Given the description of an element on the screen output the (x, y) to click on. 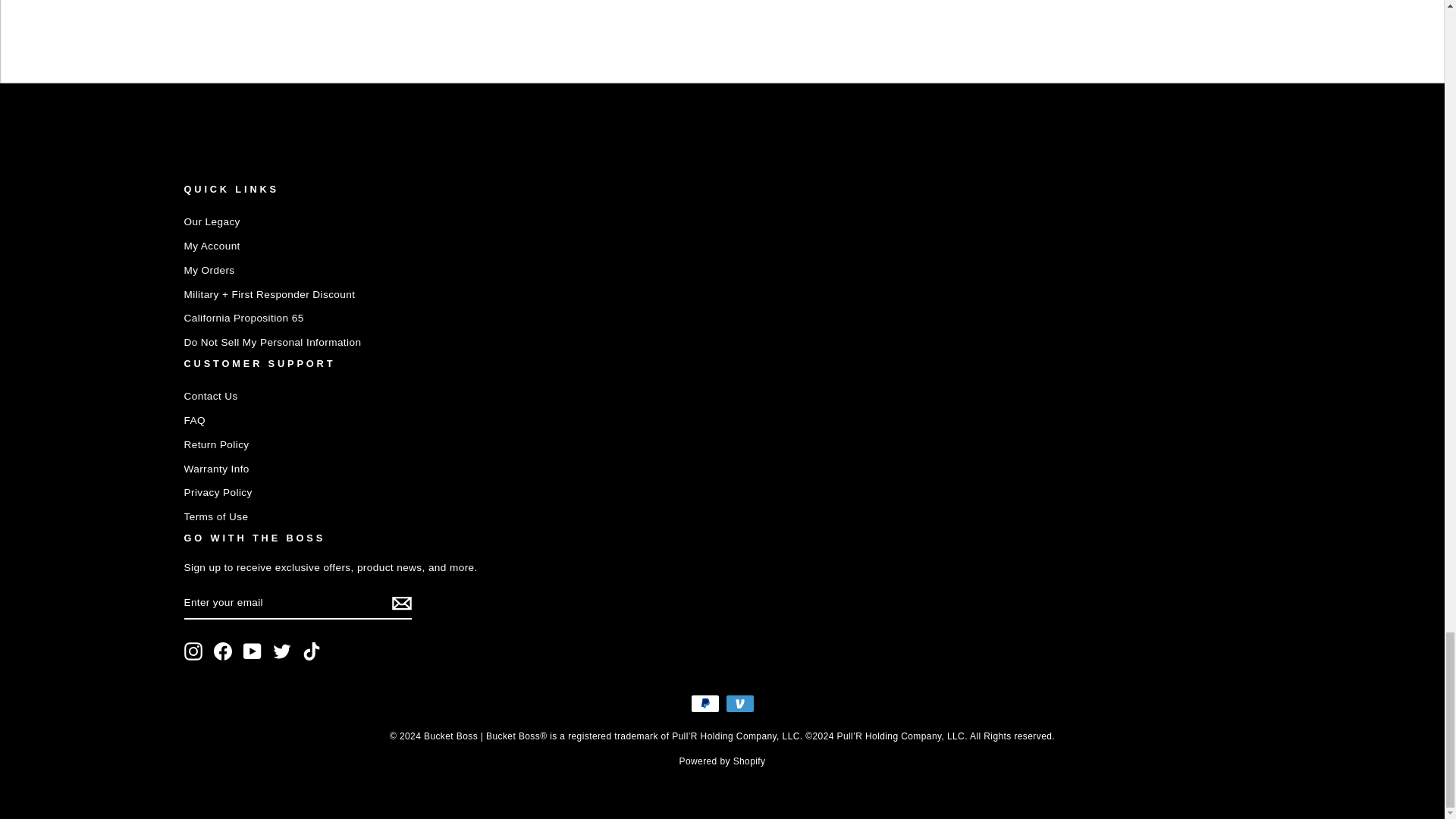
Bucket Boss on Instagram (192, 651)
icon-email (400, 603)
Bucket Boss on YouTube (251, 651)
Bucket Boss on Facebook (222, 651)
instagram (192, 651)
